Given the description of an element on the screen output the (x, y) to click on. 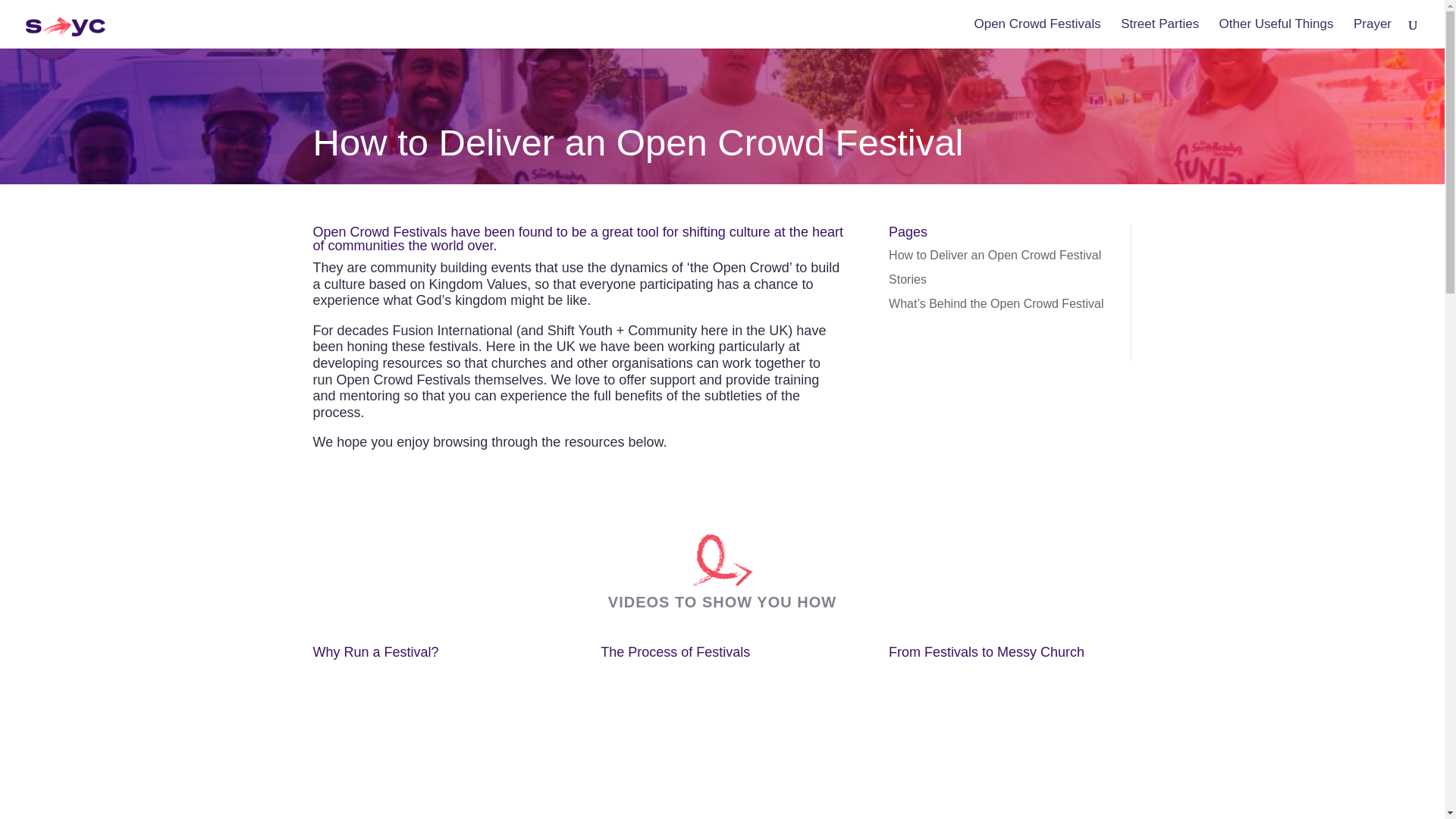
The Process of Festivals 2013 (721, 754)
Other Useful Things (1276, 33)
How to Deliver an Open Crowd Festival (994, 254)
Street Parties (1159, 33)
Stories (907, 278)
Open Crowd Festivals (1037, 33)
Prayer (1372, 33)
festivals to messy church (1009, 754)
